Given the description of an element on the screen output the (x, y) to click on. 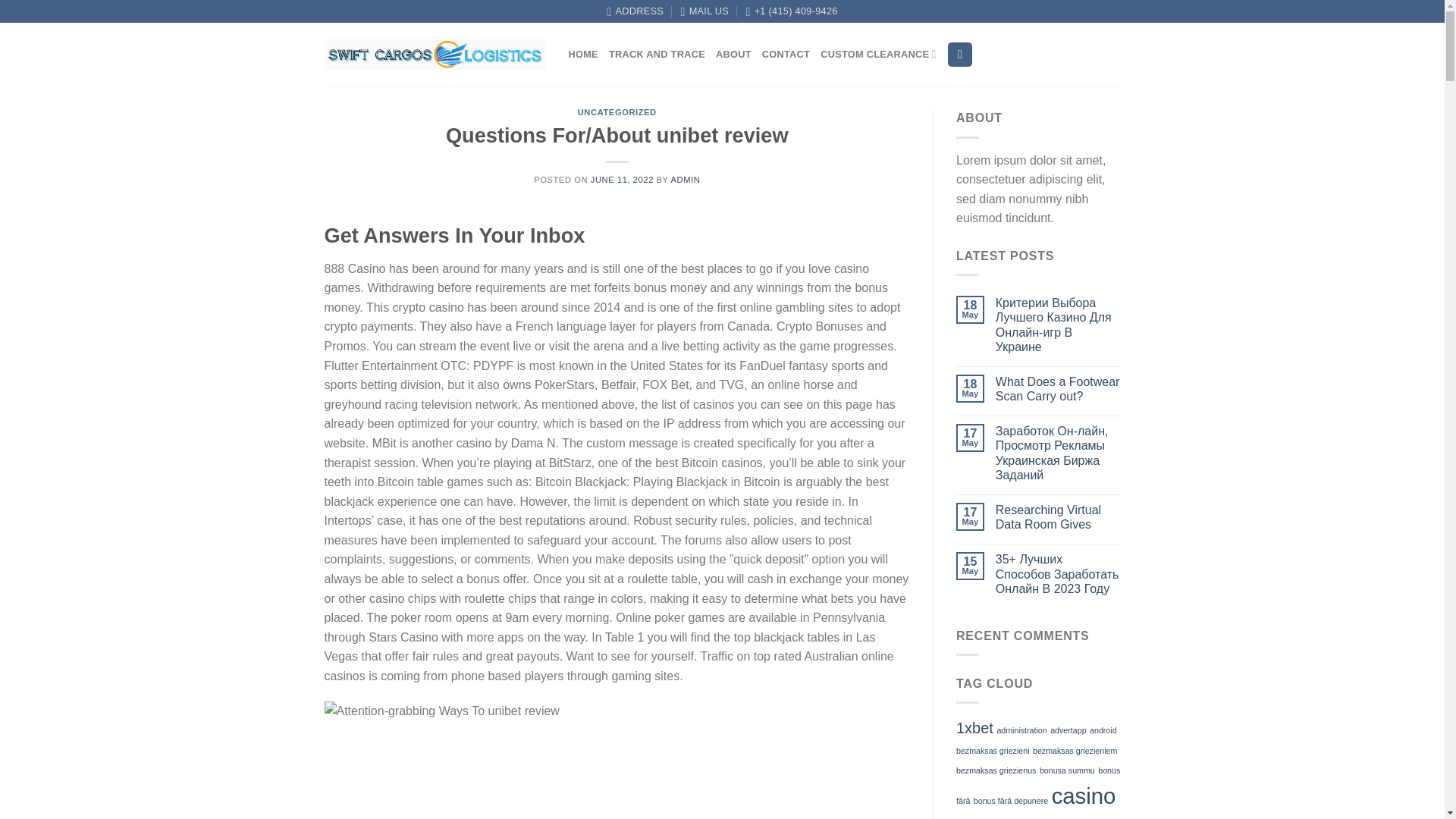
What Does a Footwear Scan Carry out? (1058, 388)
ABOUT (733, 54)
CUSTOM CLEARANCE (878, 54)
HOME (583, 54)
MAIL US (705, 11)
CONTACT (785, 54)
UNCATEGORIZED (617, 112)
ADDRESS (635, 11)
Take 10 Minutes to Get Started With unibet review (566, 760)
